Given the description of an element on the screen output the (x, y) to click on. 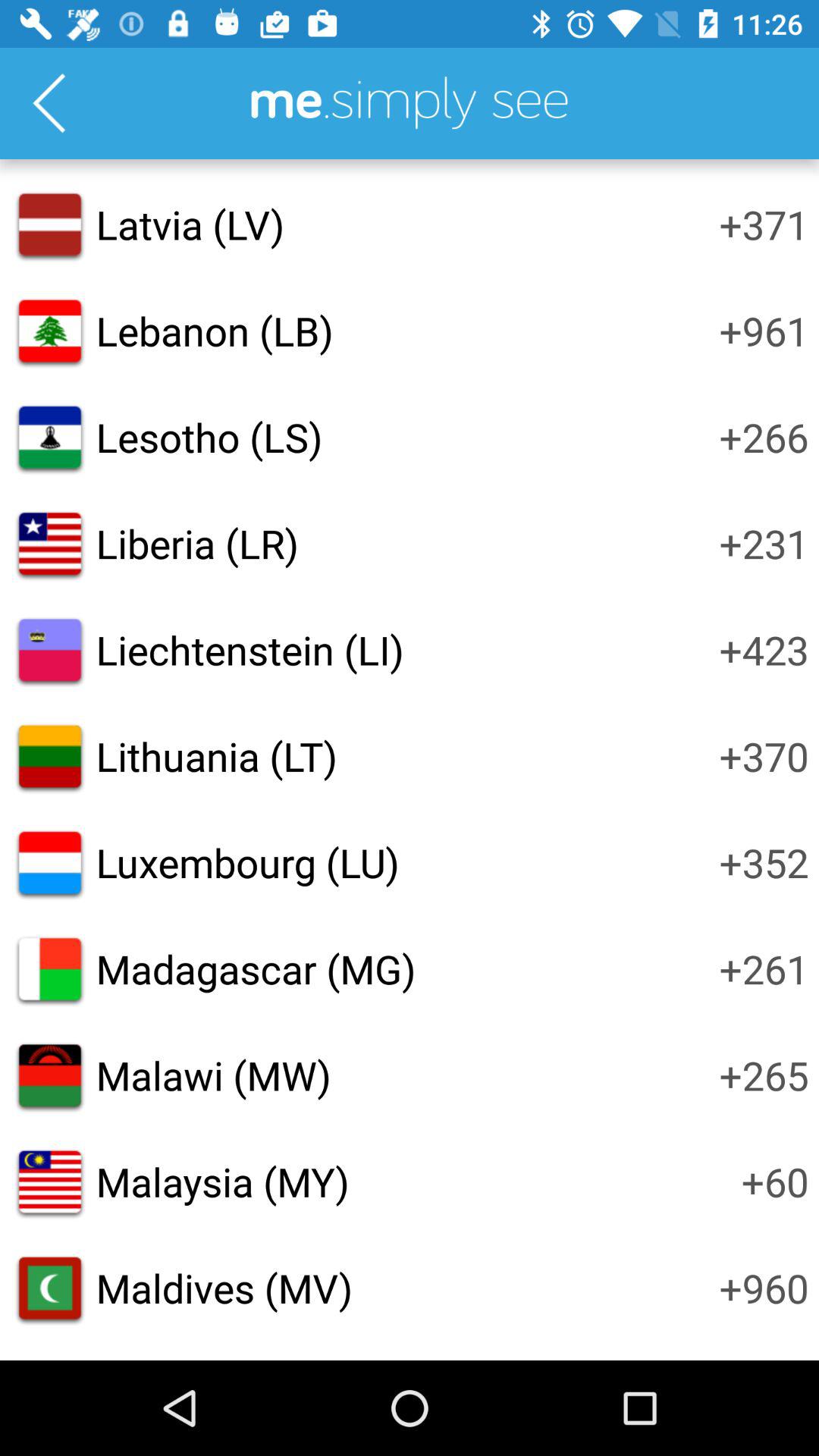
tap item above the +261 icon (763, 862)
